Given the description of an element on the screen output the (x, y) to click on. 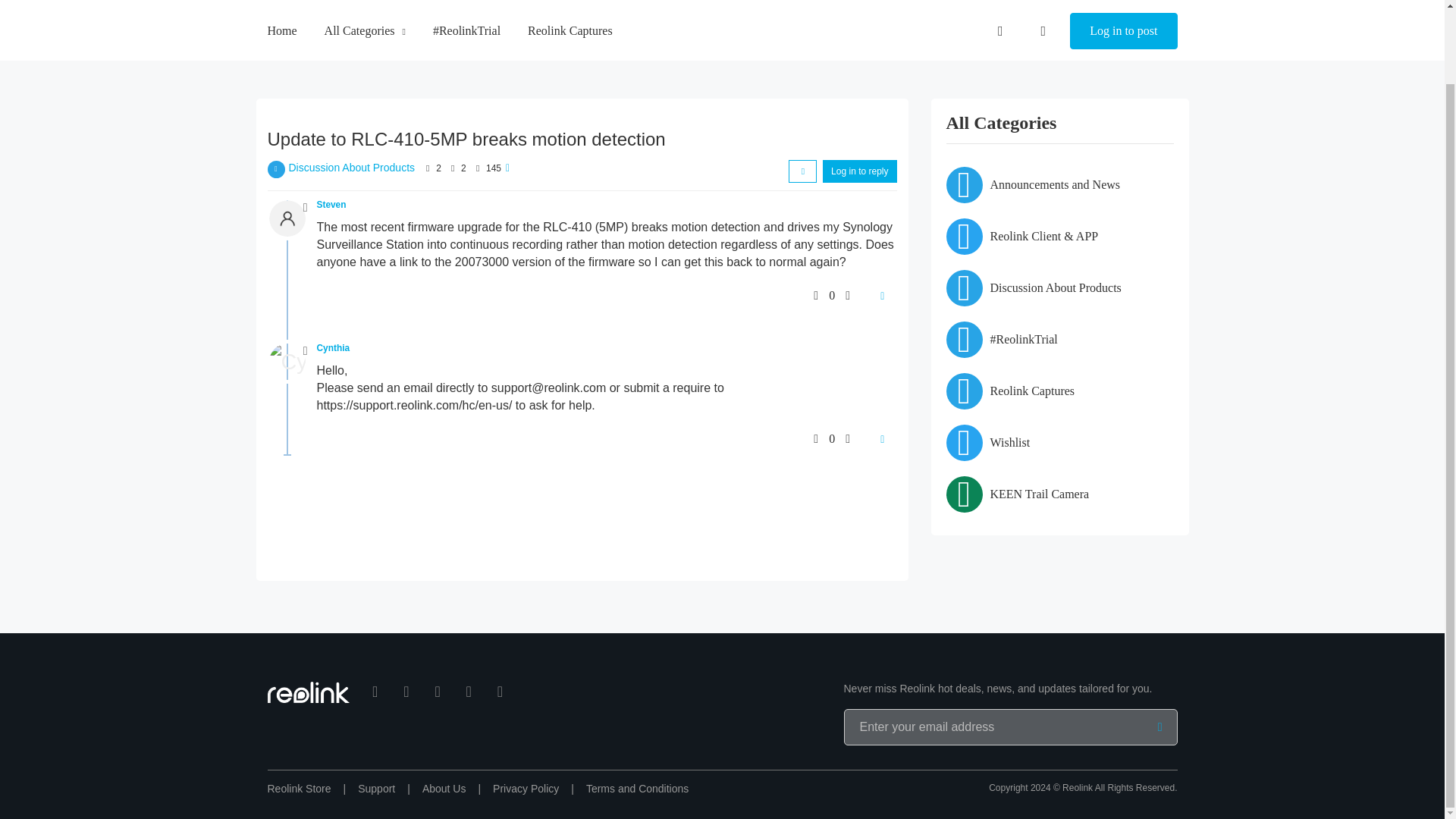
Log in to reply (859, 170)
Log in to post (1123, 5)
Posts (452, 167)
Steven (331, 204)
Discussion About Products (351, 167)
Posters (427, 167)
145 (493, 167)
Sort by (802, 170)
Views (477, 167)
